Given the description of an element on the screen output the (x, y) to click on. 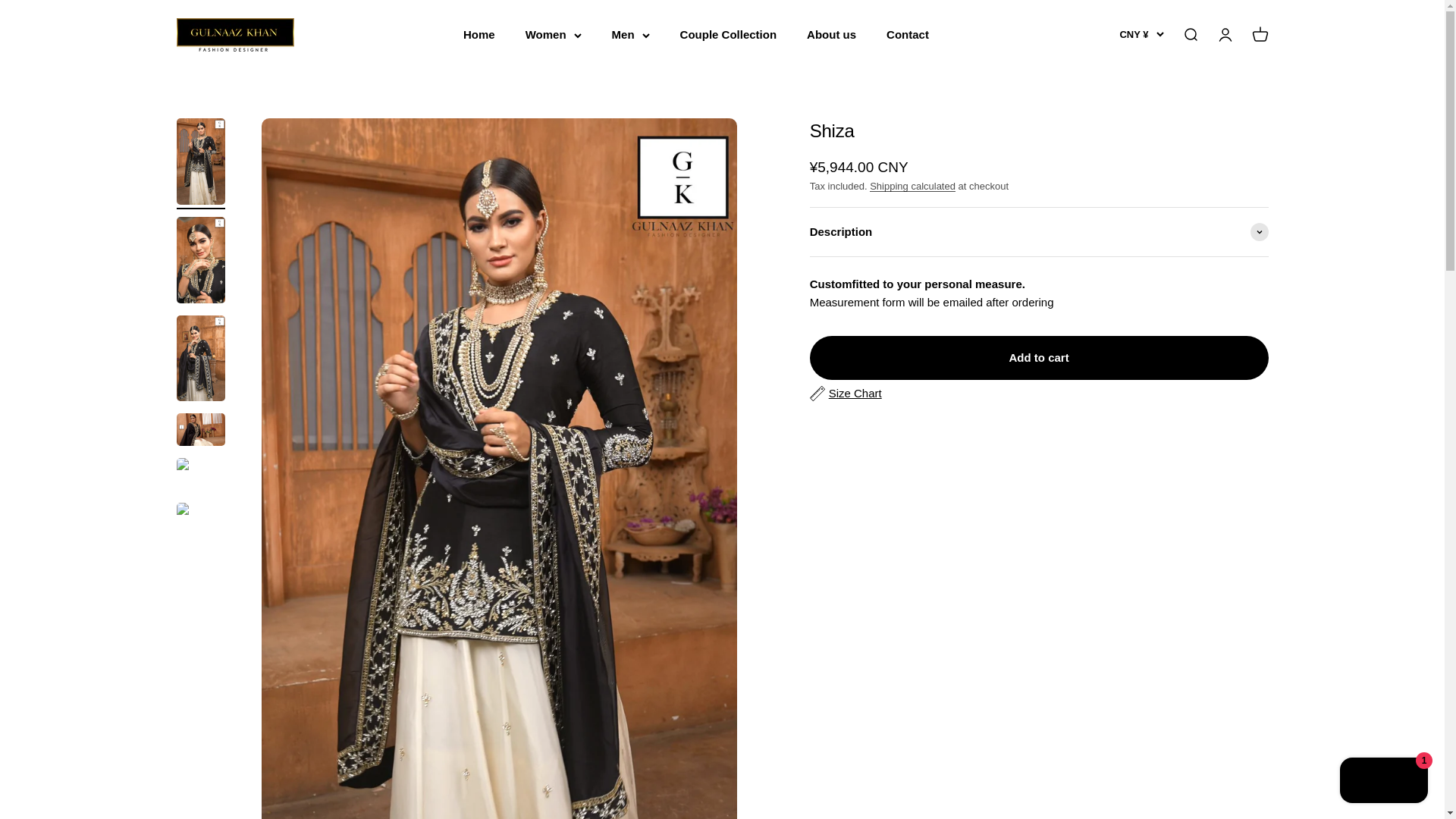
Shopify online store chat (1383, 781)
Contact (907, 33)
Couple Collection (728, 33)
Gulnaaz Fashion (235, 34)
Home (479, 33)
About us (831, 33)
